Given the description of an element on the screen output the (x, y) to click on. 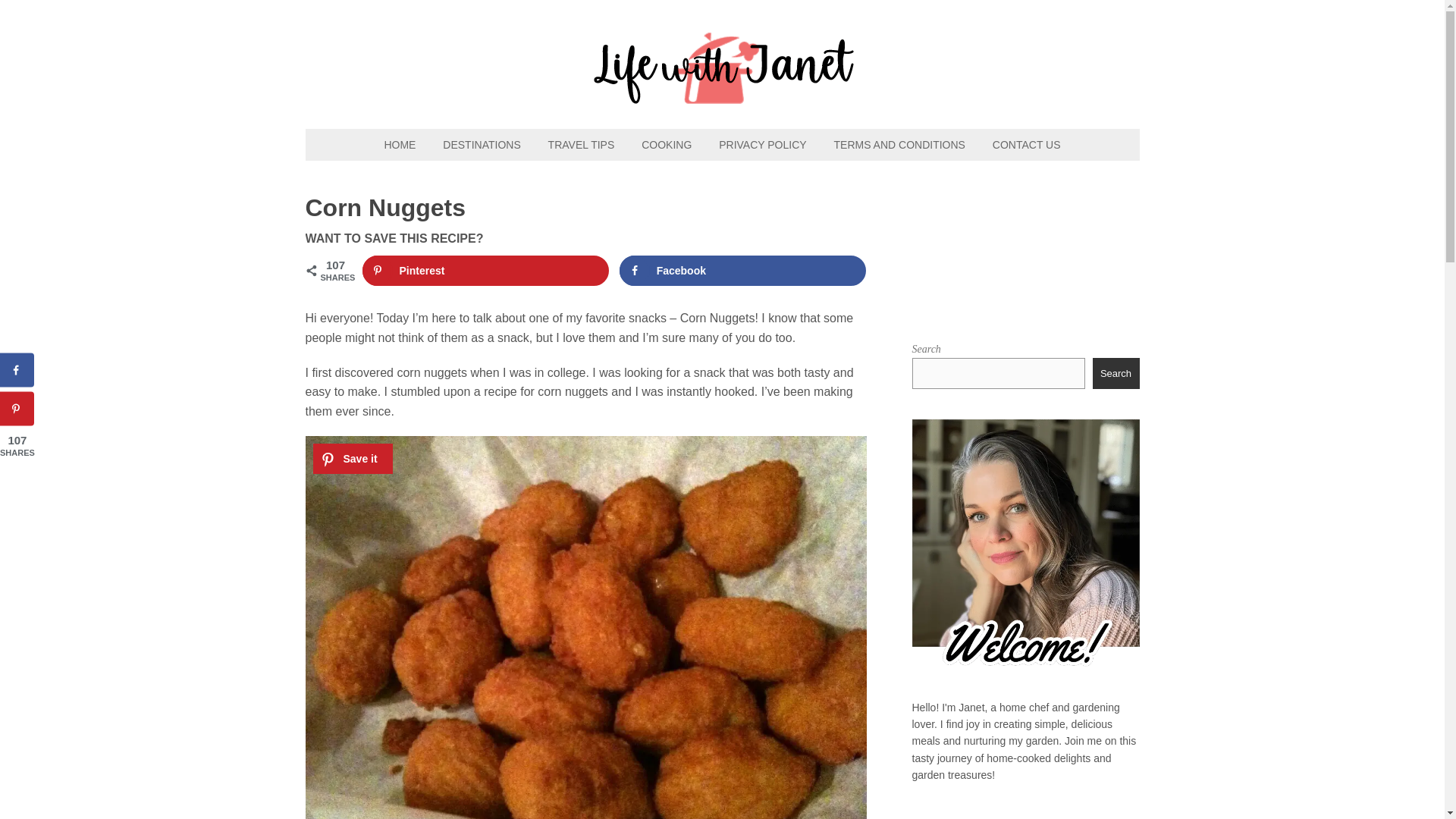
Save it (352, 458)
DESTINATIONS (481, 144)
TRAVEL TIPS (581, 144)
CONTACT US (1026, 144)
Life with Janet (721, 95)
TERMS AND CONDITIONS (899, 144)
PRIVACY POLICY (762, 144)
COOKING (665, 144)
Save to Pinterest (16, 408)
Share on Facebook (743, 270)
Share on Facebook (16, 369)
Save to Pinterest (486, 270)
HOME (399, 144)
Pinterest (486, 270)
Facebook (743, 270)
